Given the description of an element on the screen output the (x, y) to click on. 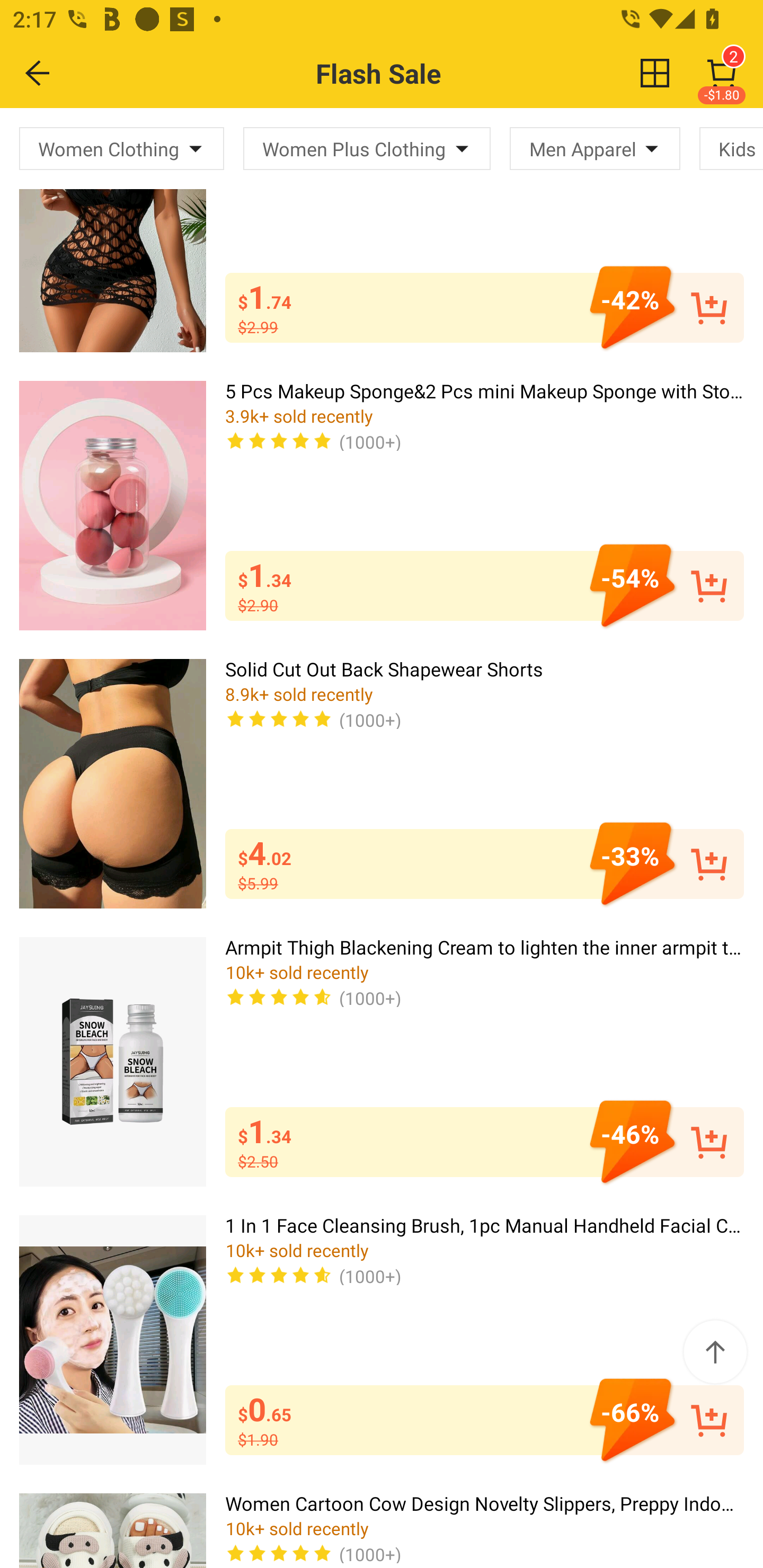
Flash Sale change view 2 -$1.80 (419, 72)
2 -$1.80 (721, 72)
change view (654, 72)
BACK (38, 72)
Hollow Out Halter Cover Up Dress Without Bikini (112, 230)
Women Clothing (121, 148)
Women Plus Clothing (366, 148)
Men Apparel (594, 148)
Solid Cut Out Back Shapewear Shorts (112, 782)
Back to top (714, 1351)
